Given the description of an element on the screen output the (x, y) to click on. 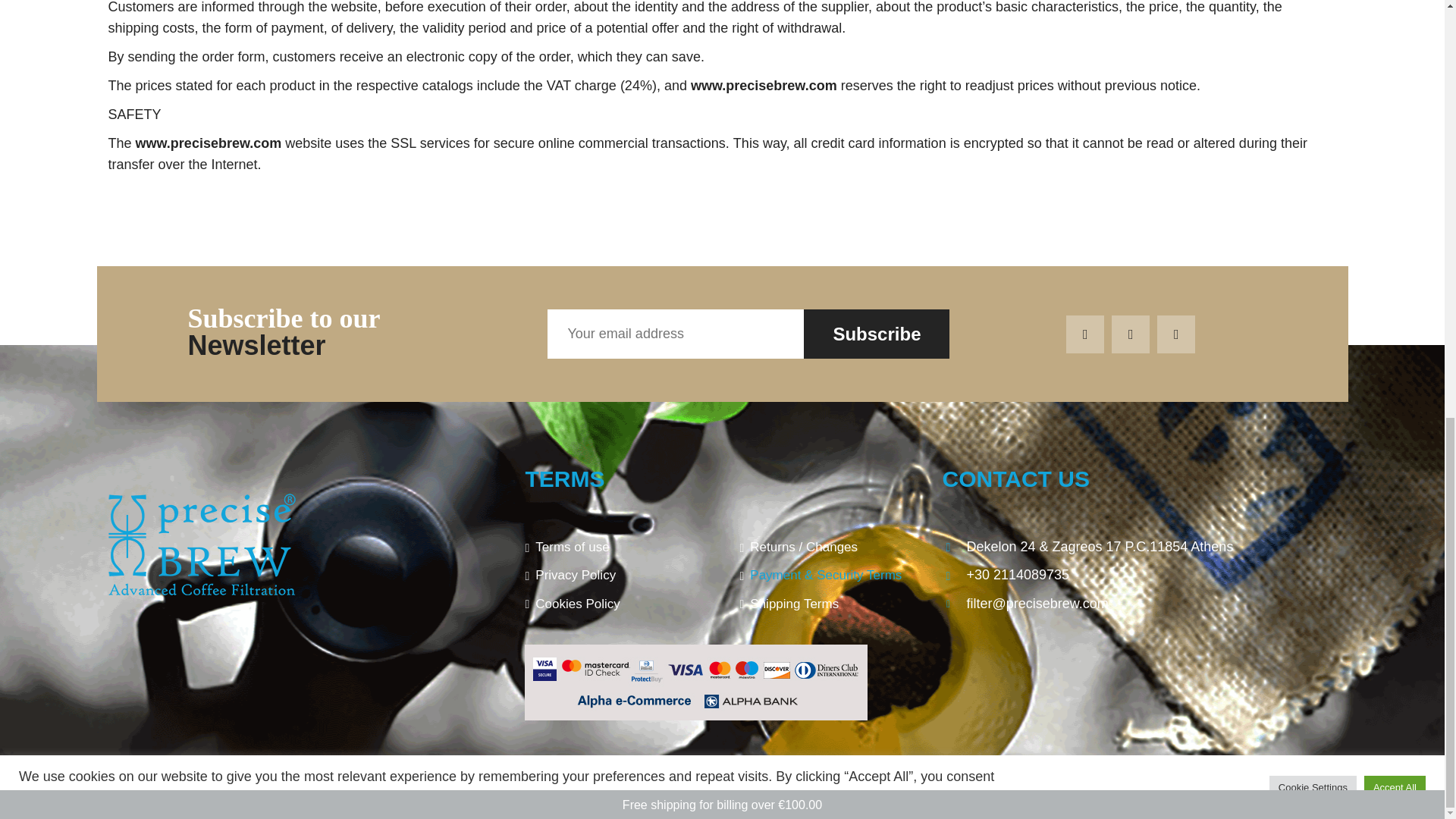
Terms of use (614, 551)
Shipping Terms (828, 607)
Subscribe (876, 334)
Privacy Policy (614, 578)
Cookies Policy (614, 607)
TOP (1328, 792)
